Given the description of an element on the screen output the (x, y) to click on. 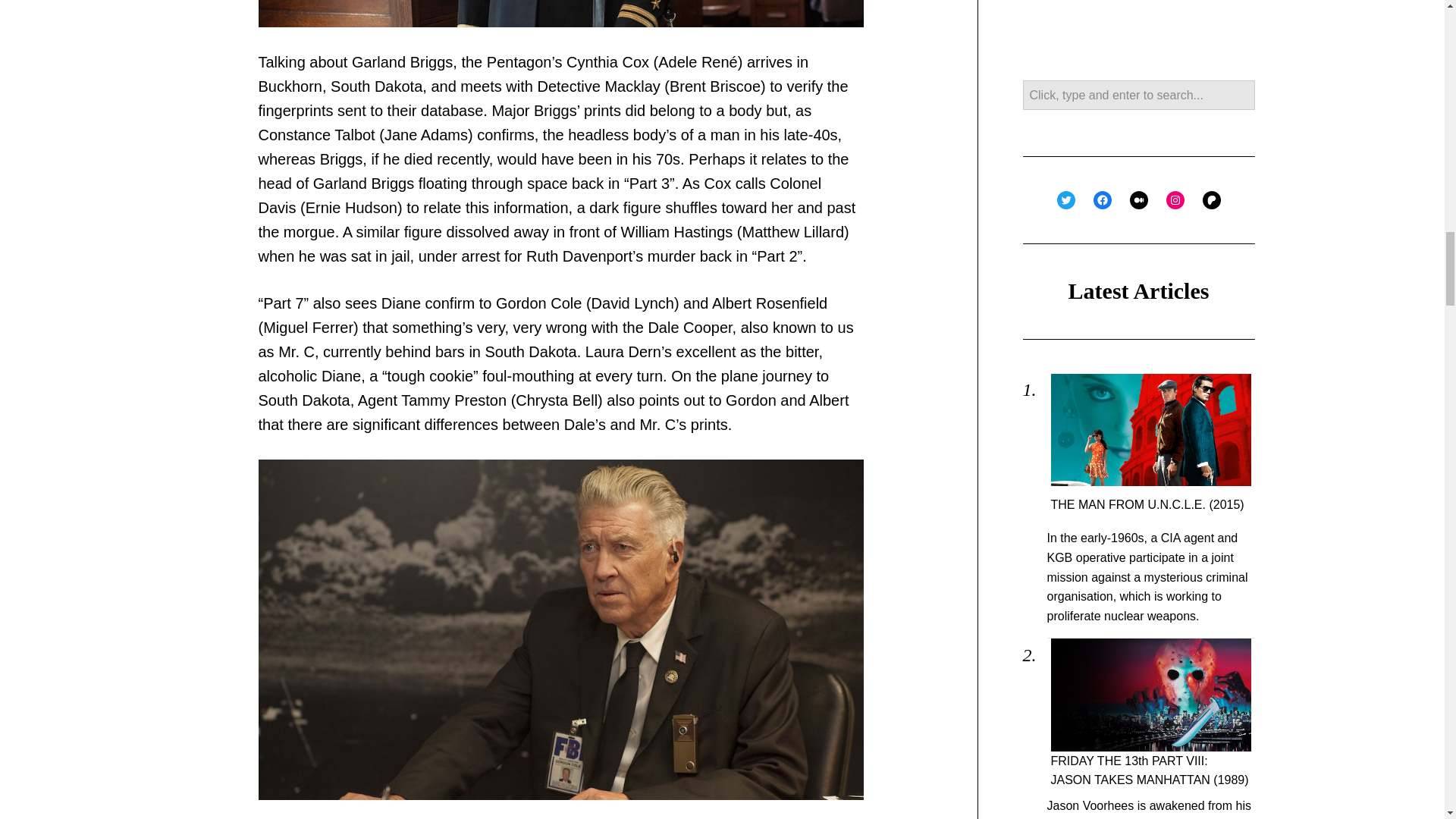
twin peaks: the return - part 7 (560, 13)
